Given the description of an element on the screen output the (x, y) to click on. 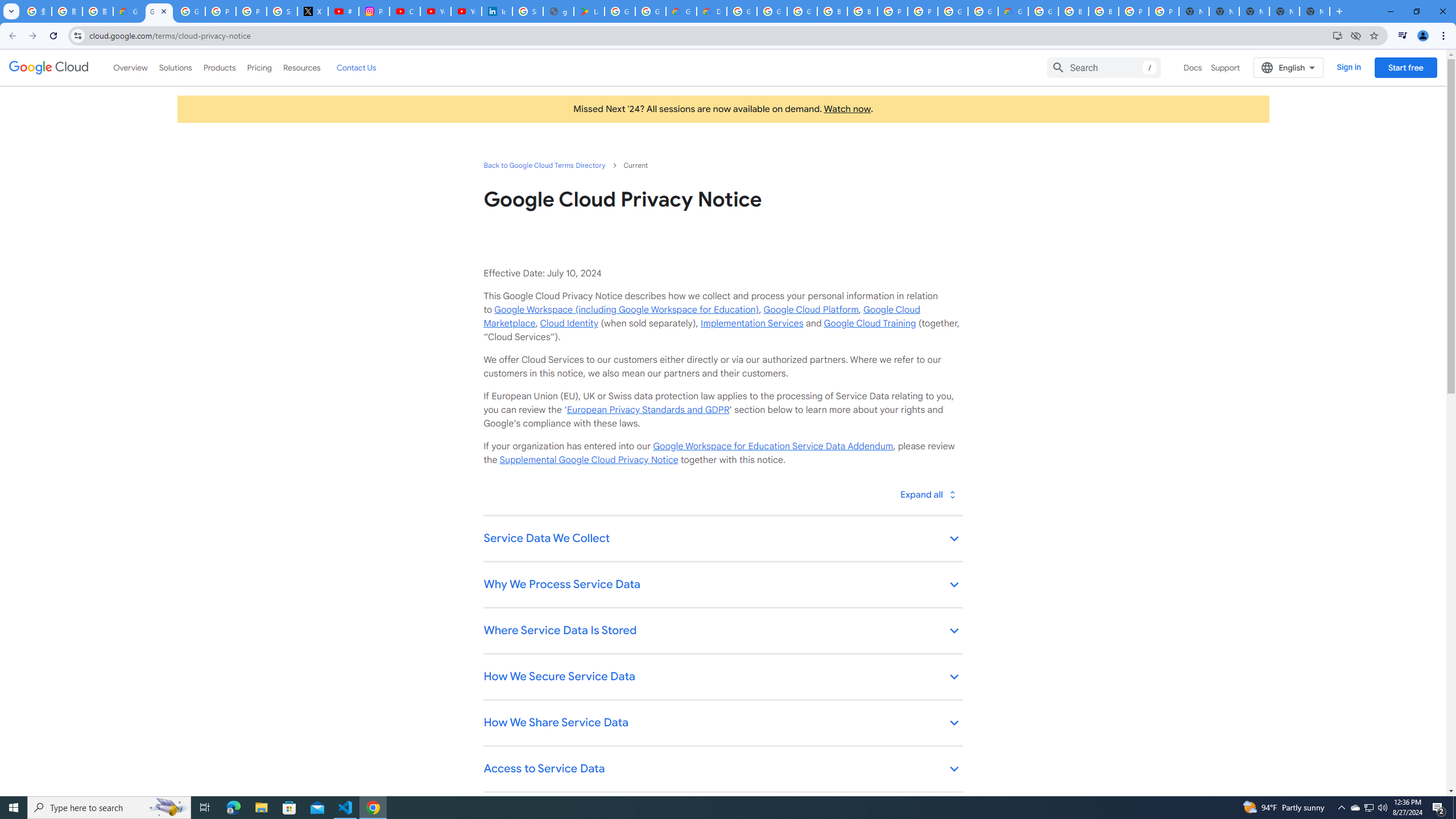
Service Data We Collect keyboard_arrow_down (722, 539)
Government | Google Cloud (681, 11)
Google Cloud Platform (982, 11)
Google Workspace (including Google Workspace for Education) (625, 309)
New Tab (1314, 11)
Solutions (175, 67)
Google Cloud Privacy Notice (158, 11)
